Given the description of an element on the screen output the (x, y) to click on. 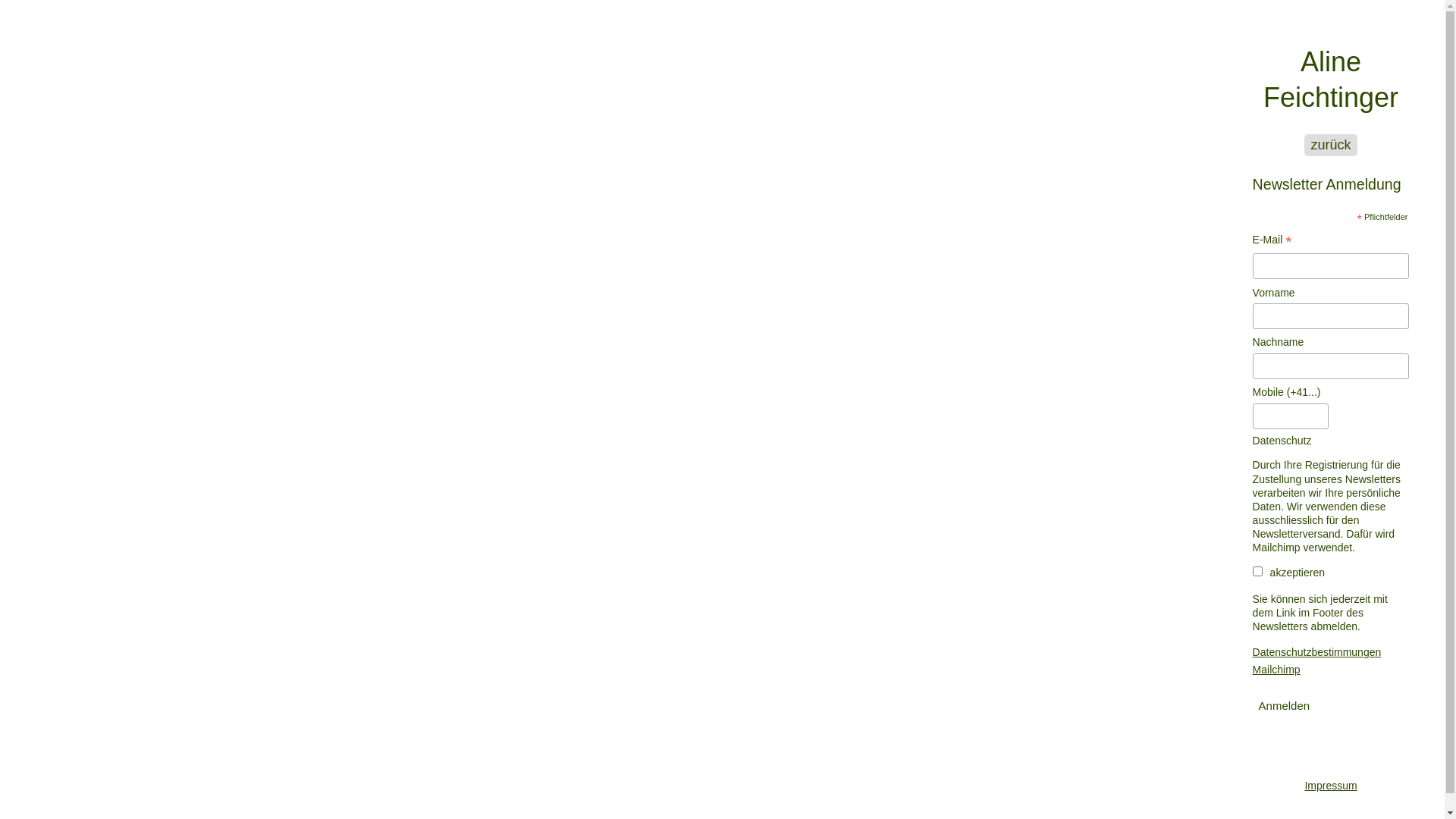
Anmelden Element type: text (1284, 705)
Datenschutzbestimmungen Mailchimp Element type: text (1316, 660)
Impressum Element type: text (1330, 769)
